Given the description of an element on the screen output the (x, y) to click on. 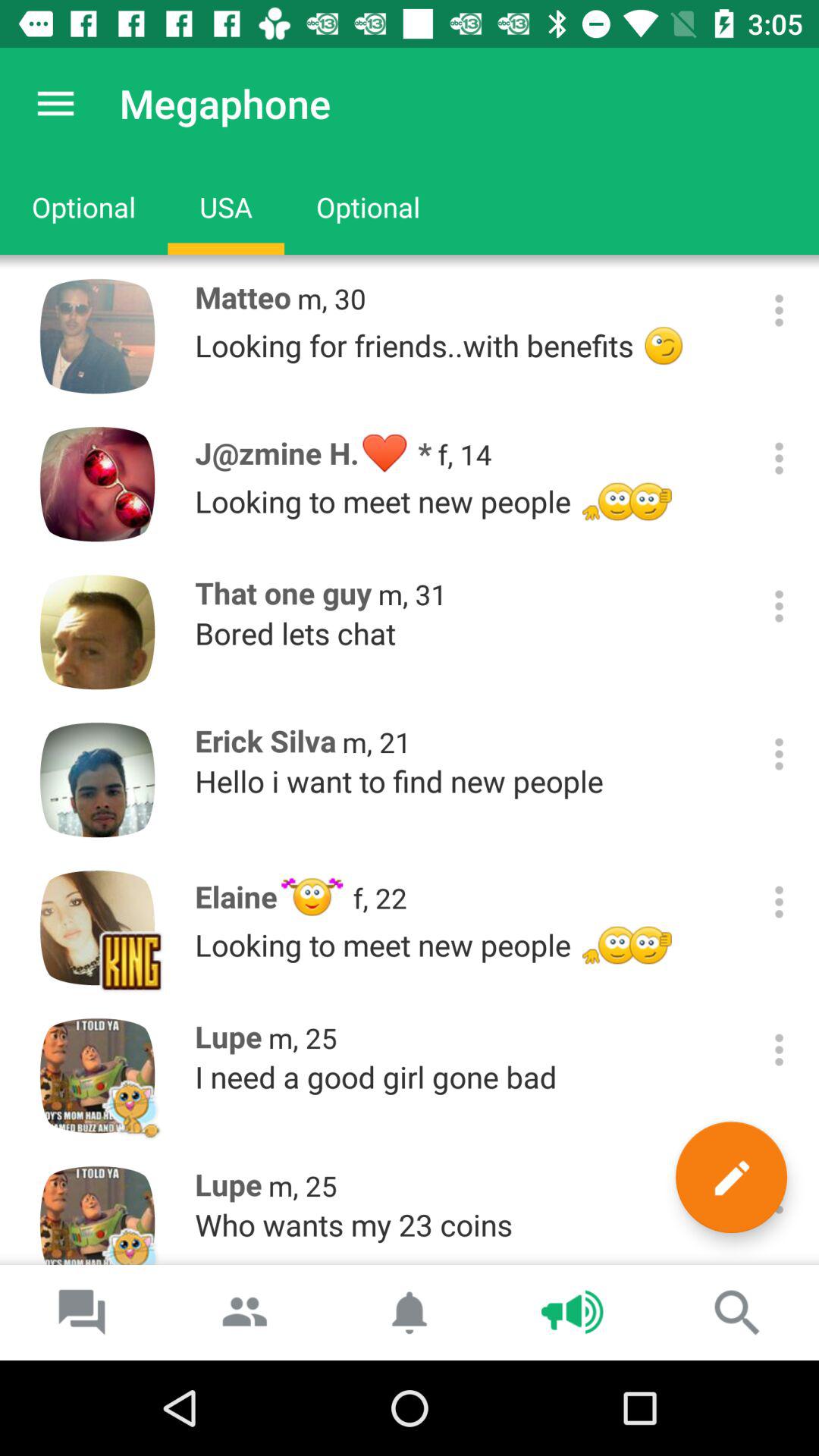
open sub-menu (779, 310)
